Given the description of an element on the screen output the (x, y) to click on. 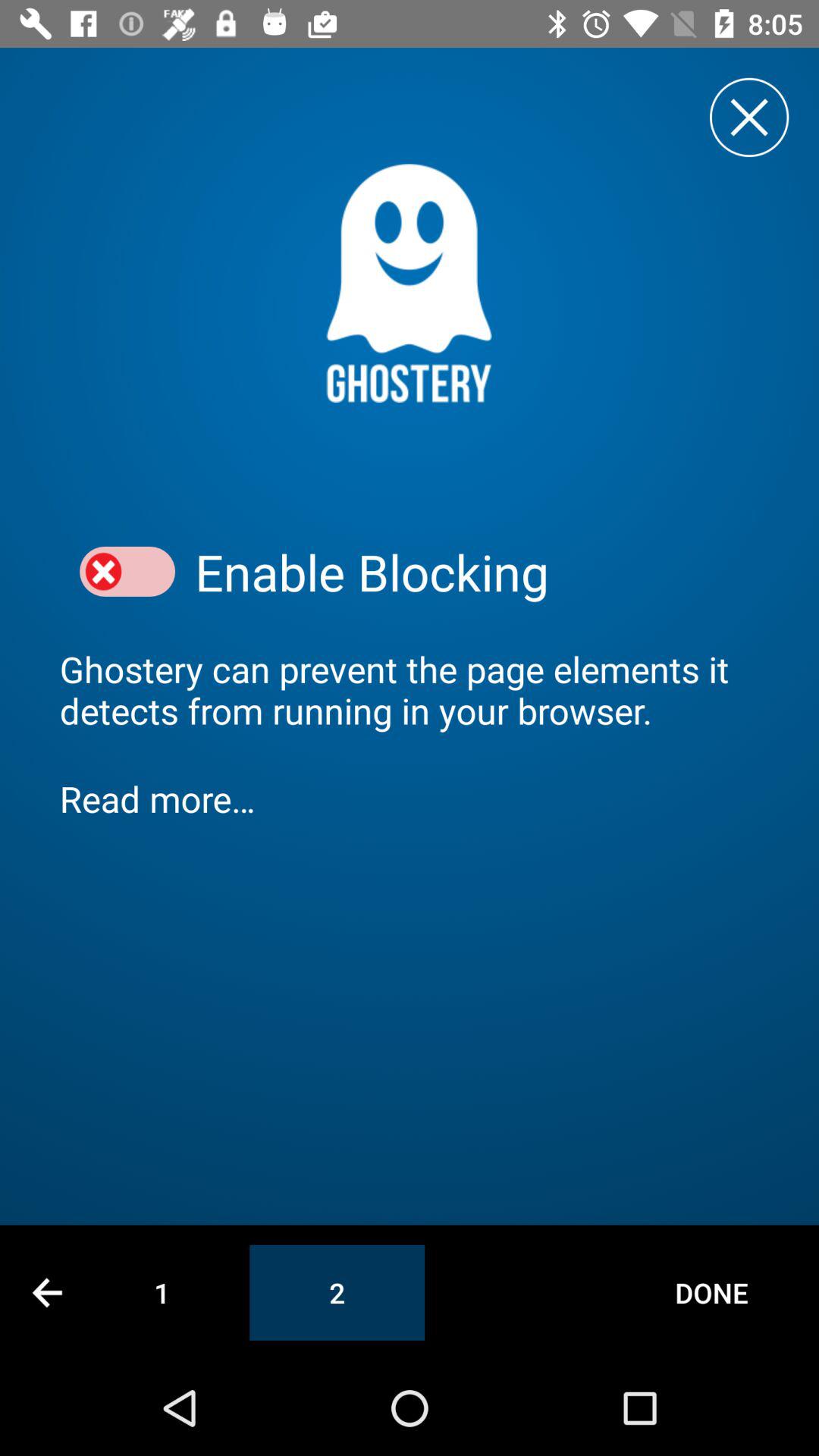
turn off the item below the ghostery can prevent (409, 798)
